Given the description of an element on the screen output the (x, y) to click on. 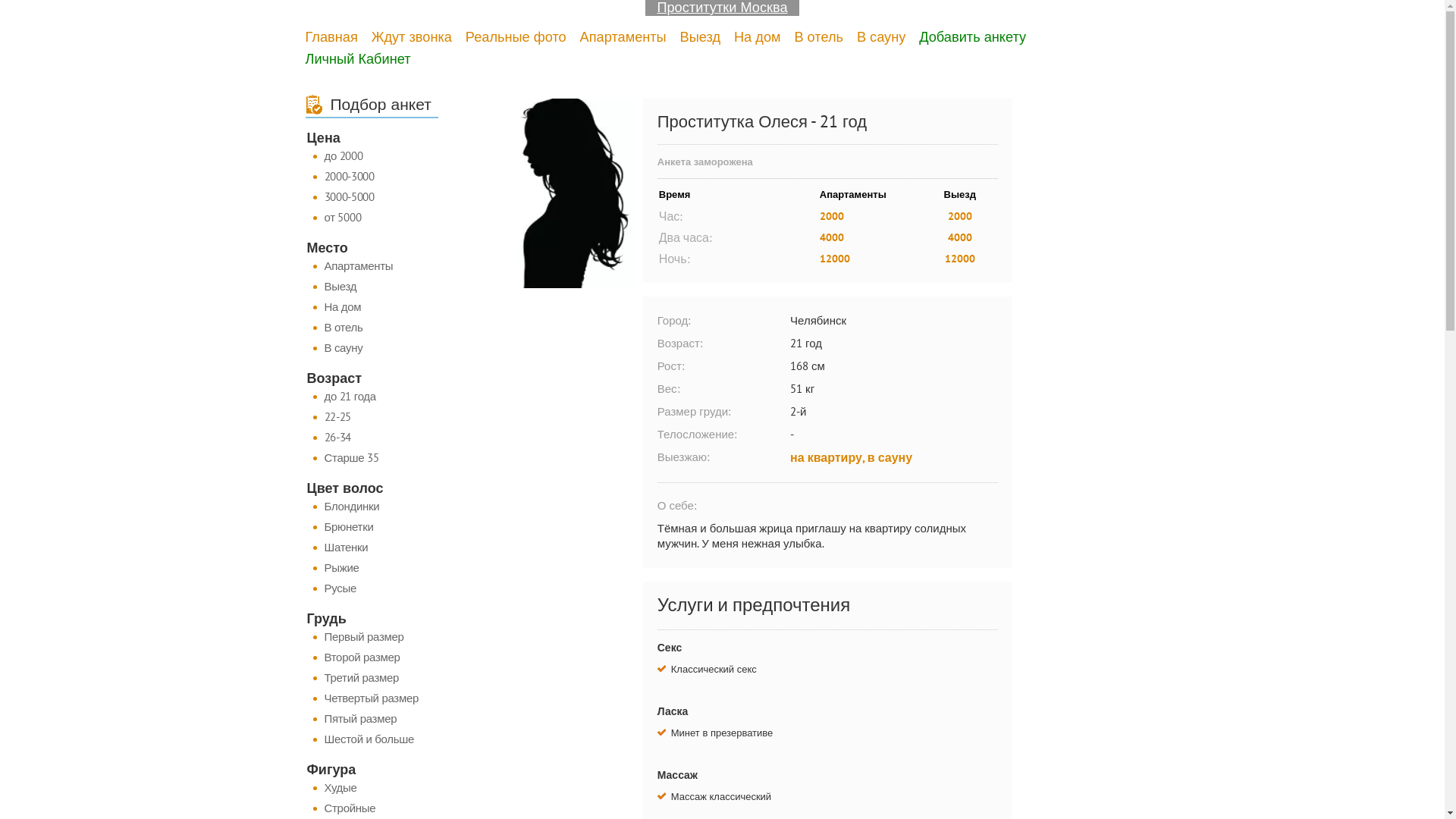
2000-3000 Element type: text (370, 176)
22-25 Element type: text (370, 417)
3000-5000 Element type: text (370, 197)
26-34 Element type: text (370, 437)
